Given the description of an element on the screen output the (x, y) to click on. 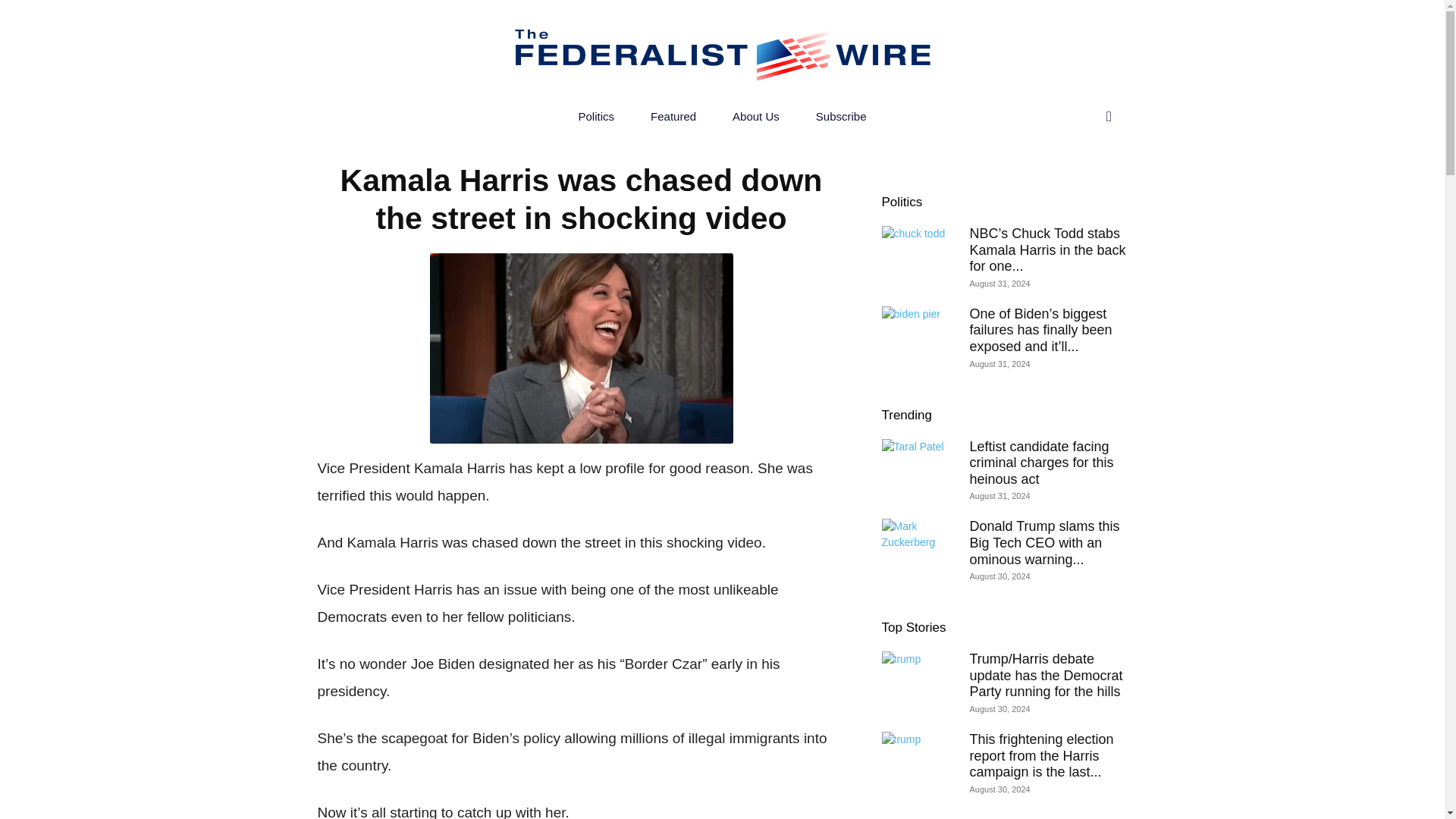
Featured (672, 116)
About Us (755, 116)
Subscribe (841, 116)
Search (1077, 177)
Politics (596, 116)
kamala harris (580, 348)
